Given the description of an element on the screen output the (x, y) to click on. 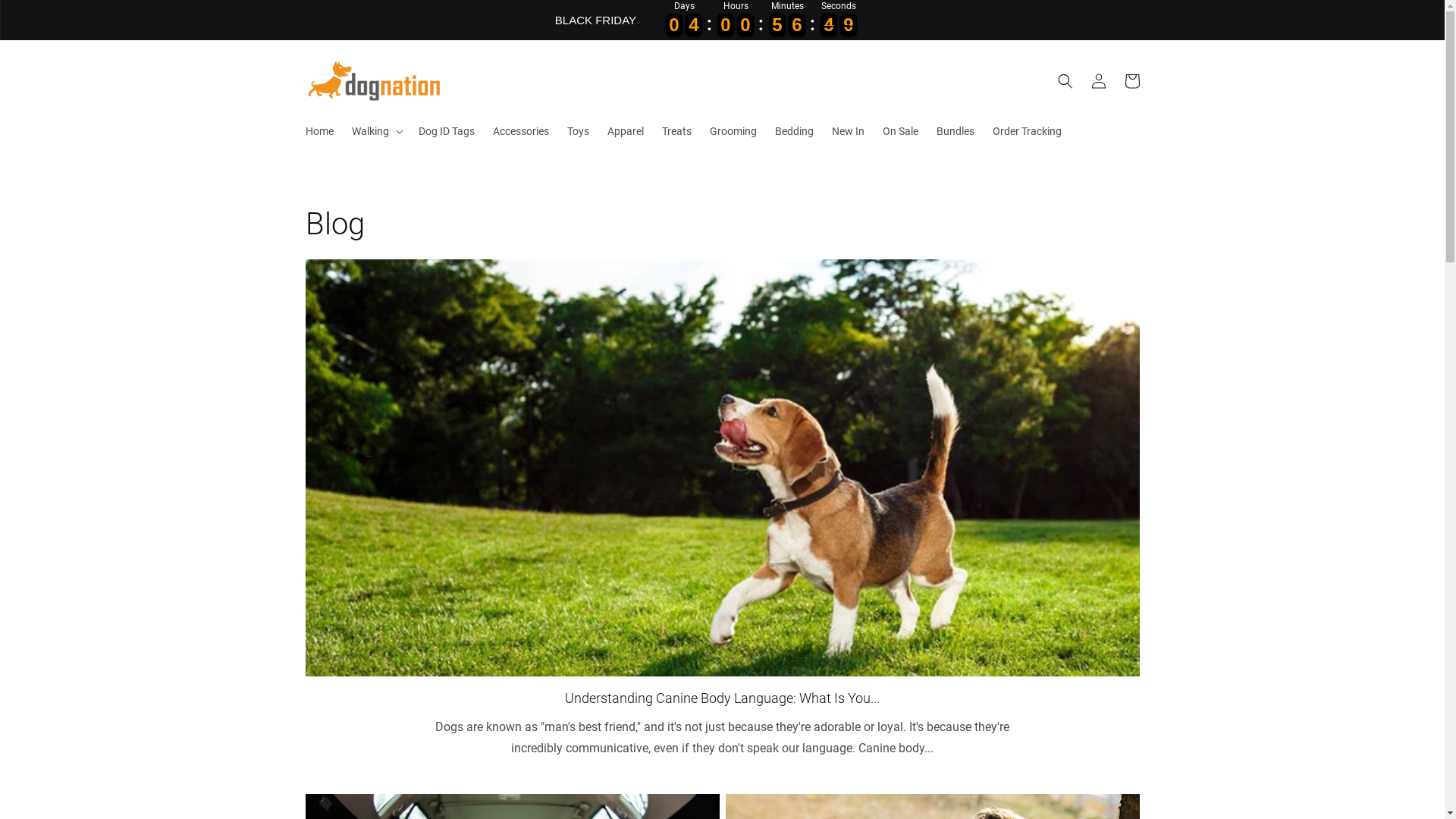
0 Element type: text (745, 24)
0
0 Element type: text (693, 24)
Toys Element type: text (578, 131)
Treats Element type: text (675, 131)
0
0 Element type: text (673, 24)
Grooming Element type: text (732, 131)
0 Element type: text (828, 24)
Bedding Element type: text (793, 131)
Accessories Element type: text (520, 131)
Order Tracking Element type: text (1026, 131)
Bundles Element type: text (954, 131)
0 Element type: text (776, 24)
Apparel Element type: text (624, 131)
0 Element type: text (725, 24)
New In Element type: text (847, 131)
Home Element type: text (318, 131)
0 Element type: text (796, 24)
Cart Element type: text (1131, 80)
Dog ID Tags Element type: text (446, 131)
Understanding Canine Body Language: What Is You... Element type: text (721, 697)
On Sale Element type: text (900, 131)
Log in Element type: text (1097, 80)
2
2 Element type: text (848, 24)
